Given the description of an element on the screen output the (x, y) to click on. 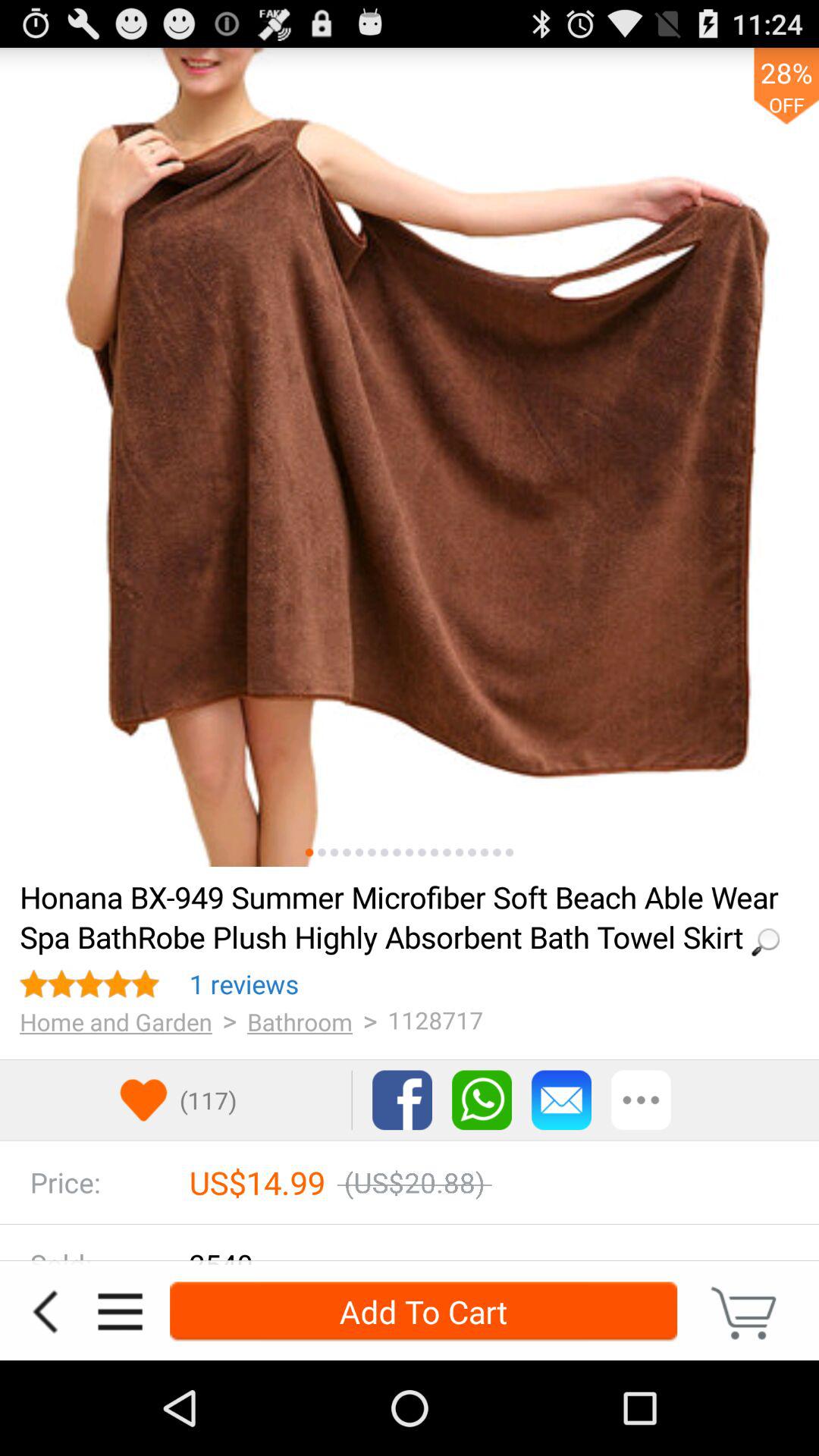
select image (396, 852)
